Given the description of an element on the screen output the (x, y) to click on. 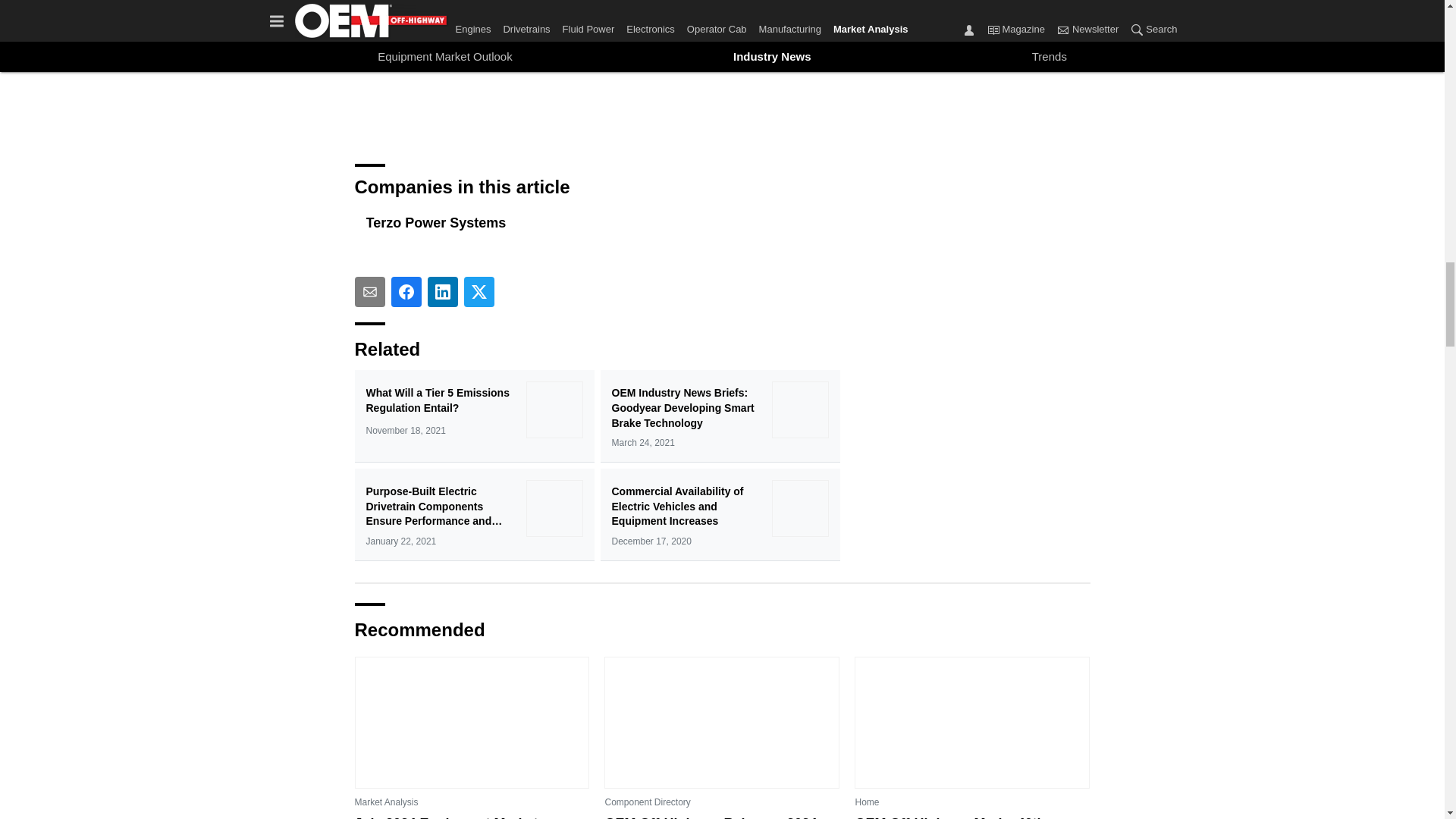
Share To linkedin (443, 291)
Share To email (370, 291)
Share To facebook (406, 291)
Market Analysis (387, 801)
Share To twitter (479, 291)
